Given the description of an element on the screen output the (x, y) to click on. 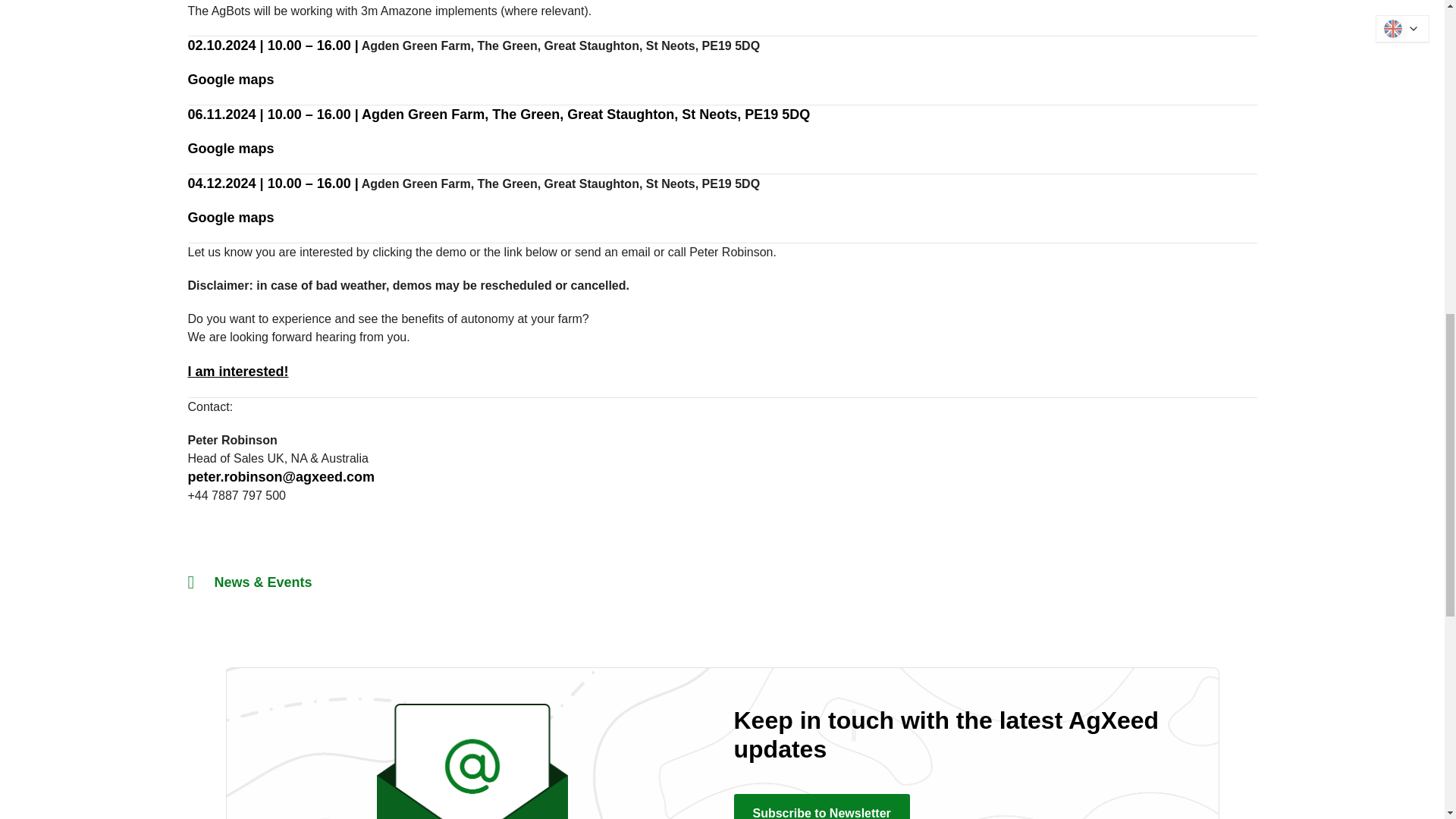
newsletter icon (471, 761)
